Given the description of an element on the screen output the (x, y) to click on. 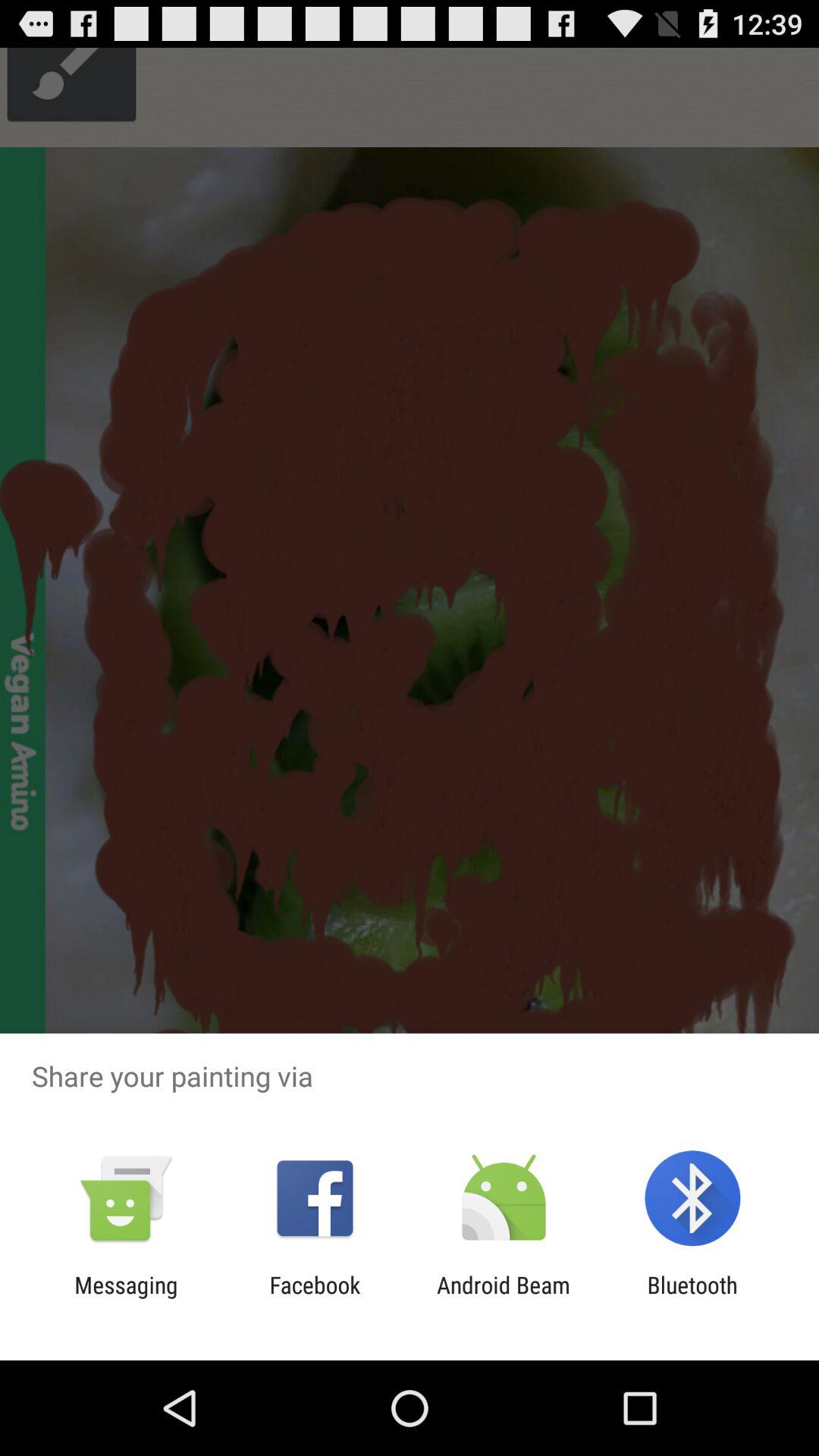
press facebook (314, 1298)
